Given the description of an element on the screen output the (x, y) to click on. 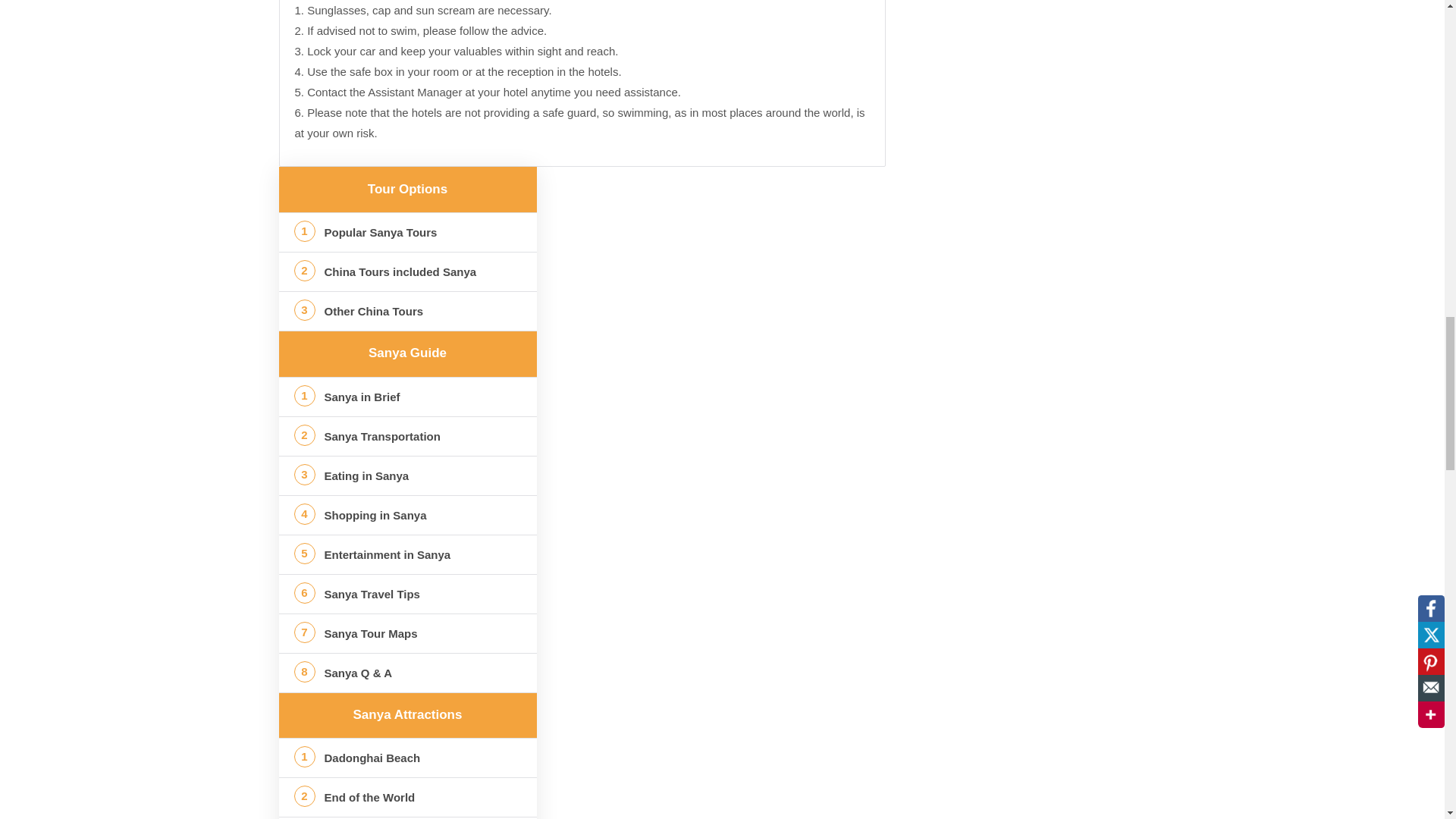
China Tours included Sanya (408, 271)
Eating in Sanya (408, 475)
Sanya Travel Tips (408, 594)
End of the World (408, 797)
Sanya in Brief (408, 396)
Shopping in Sanya (408, 515)
Entertainment in Sanya (408, 554)
Dadonghai Beach (408, 757)
Other China Tours (408, 311)
Popular Sanya Tours (408, 232)
Sanya Transportation (408, 436)
Sanya Tour Maps (408, 633)
